Given the description of an element on the screen output the (x, y) to click on. 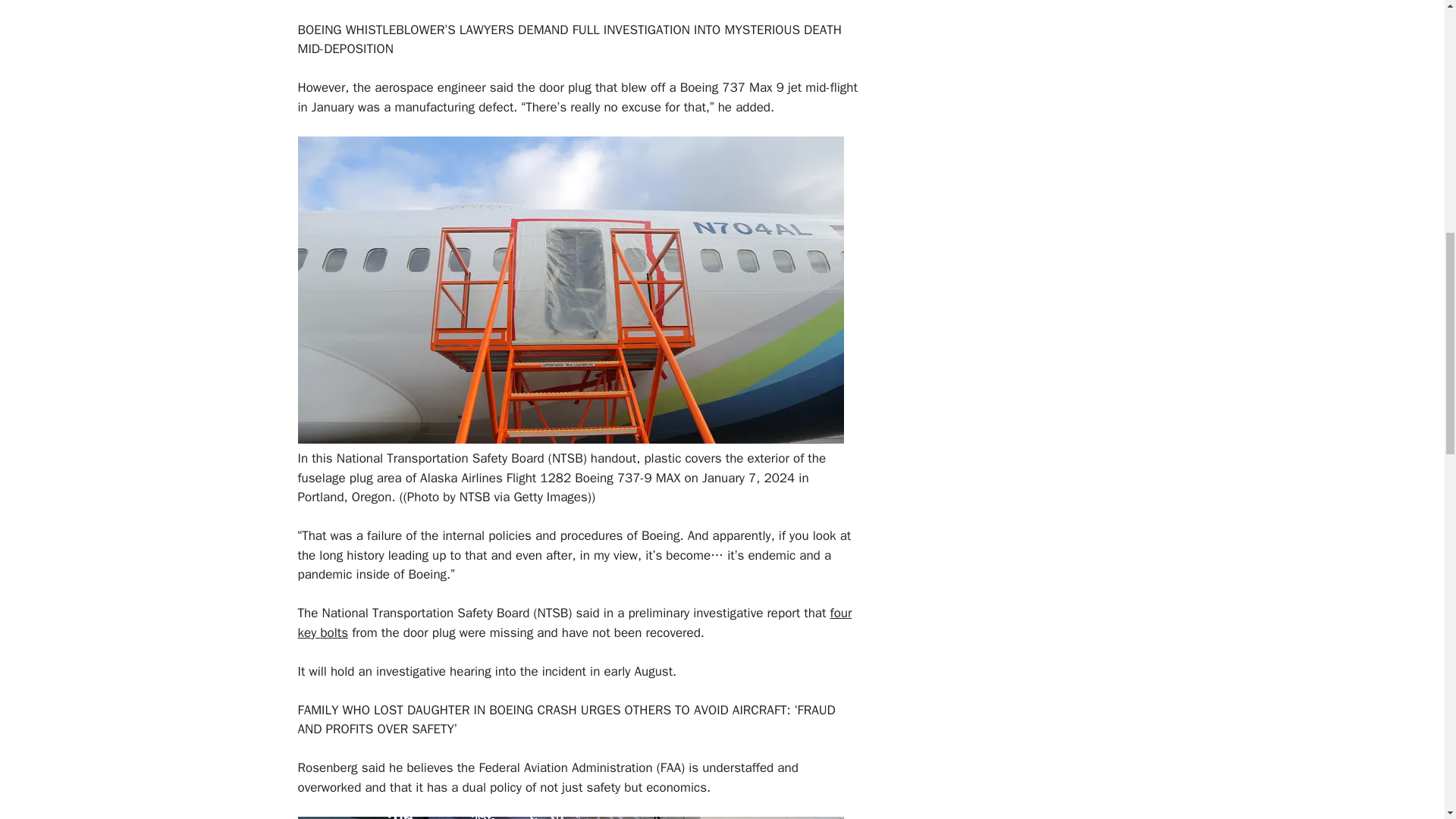
Scroll back to top (1406, 720)
